Given the description of an element on the screen output the (x, y) to click on. 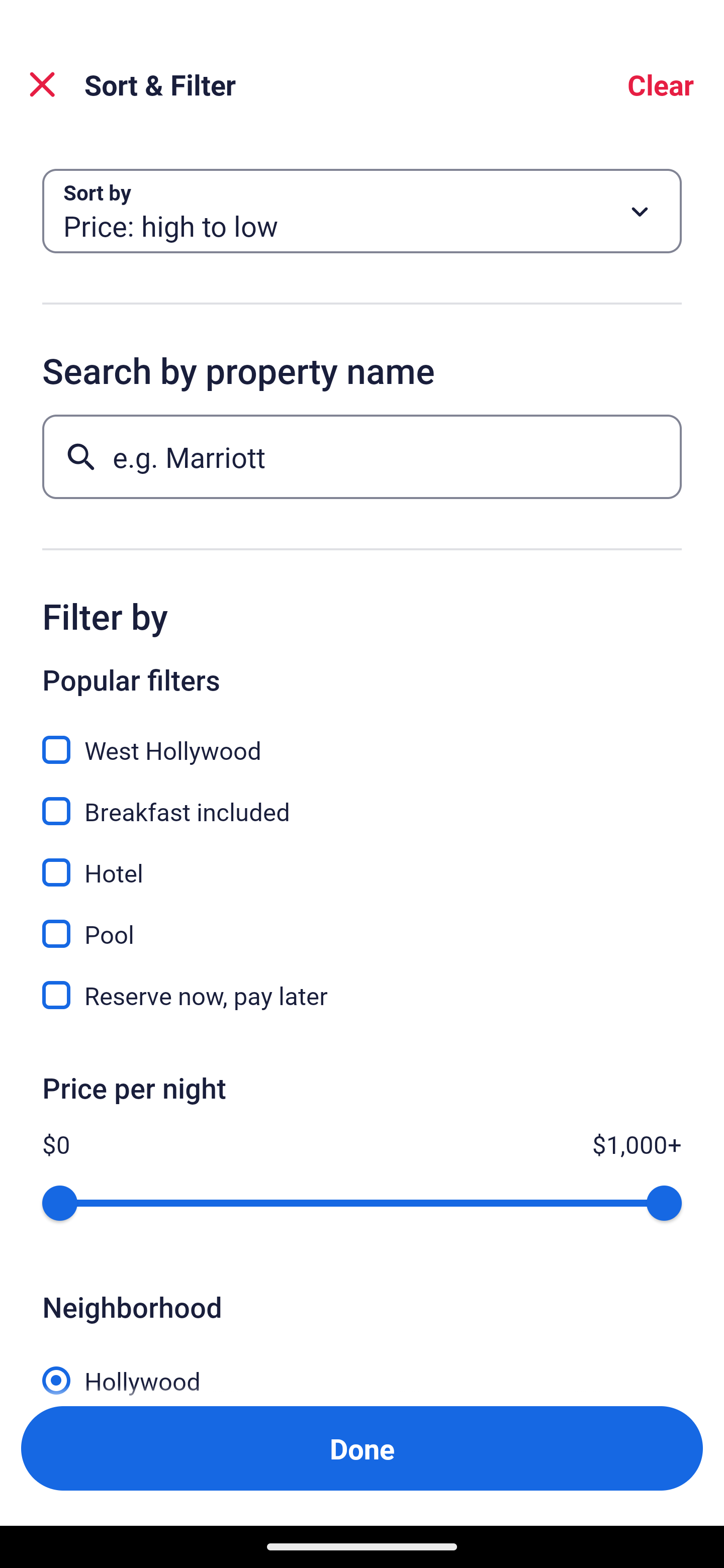
Close Sort and Filter (42, 84)
Clear (660, 84)
Sort by Button Price: high to low (361, 211)
e.g. Marriott Button (361, 455)
West Hollywood, West Hollywood (361, 738)
Breakfast included, Breakfast included (361, 800)
Hotel, Hotel (361, 861)
Pool, Pool (361, 922)
Reserve now, pay later, Reserve now, pay later (361, 995)
Apply and close Sort and Filter Done (361, 1448)
